Given the description of an element on the screen output the (x, y) to click on. 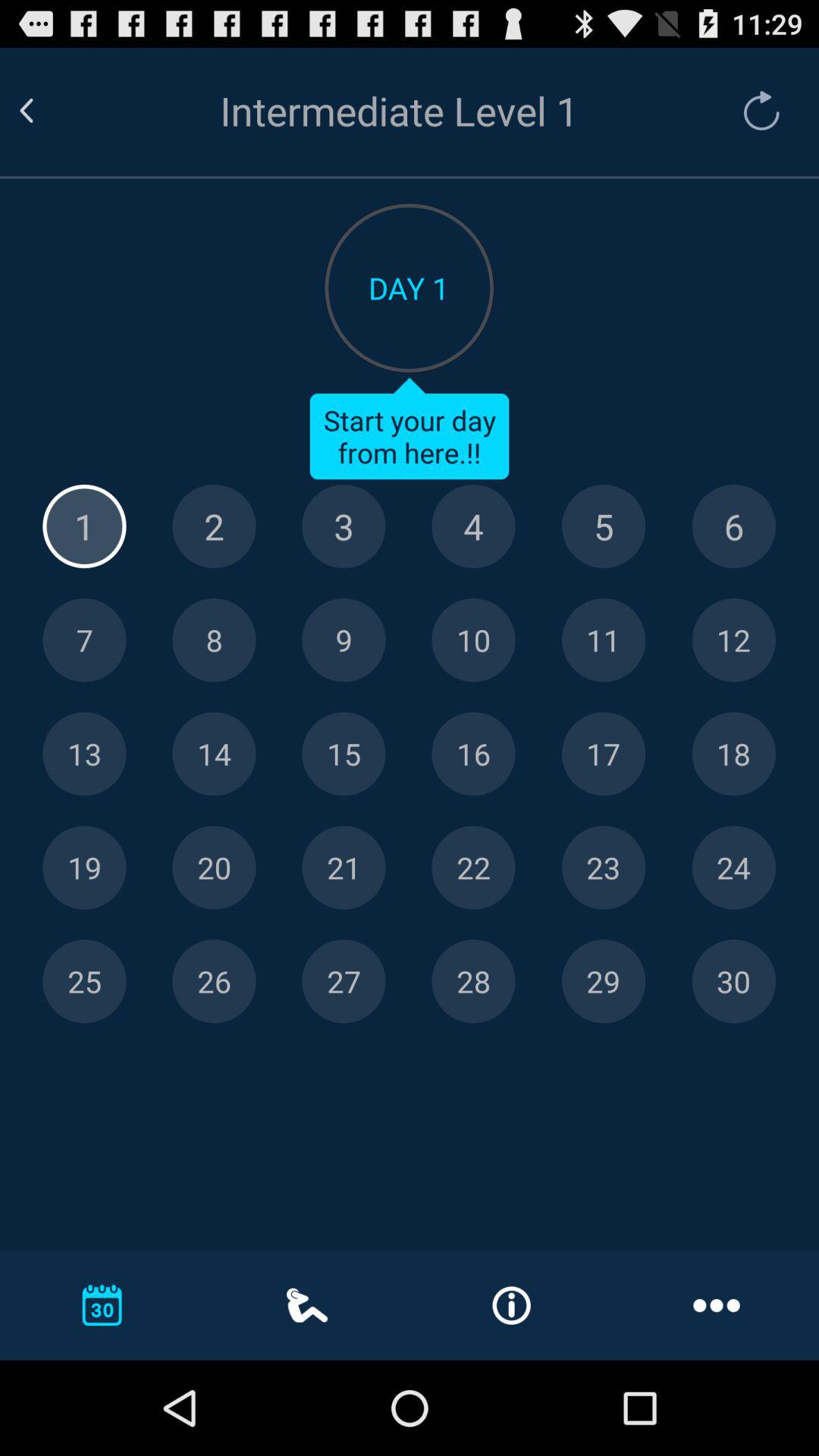
select day (603, 867)
